Given the description of an element on the screen output the (x, y) to click on. 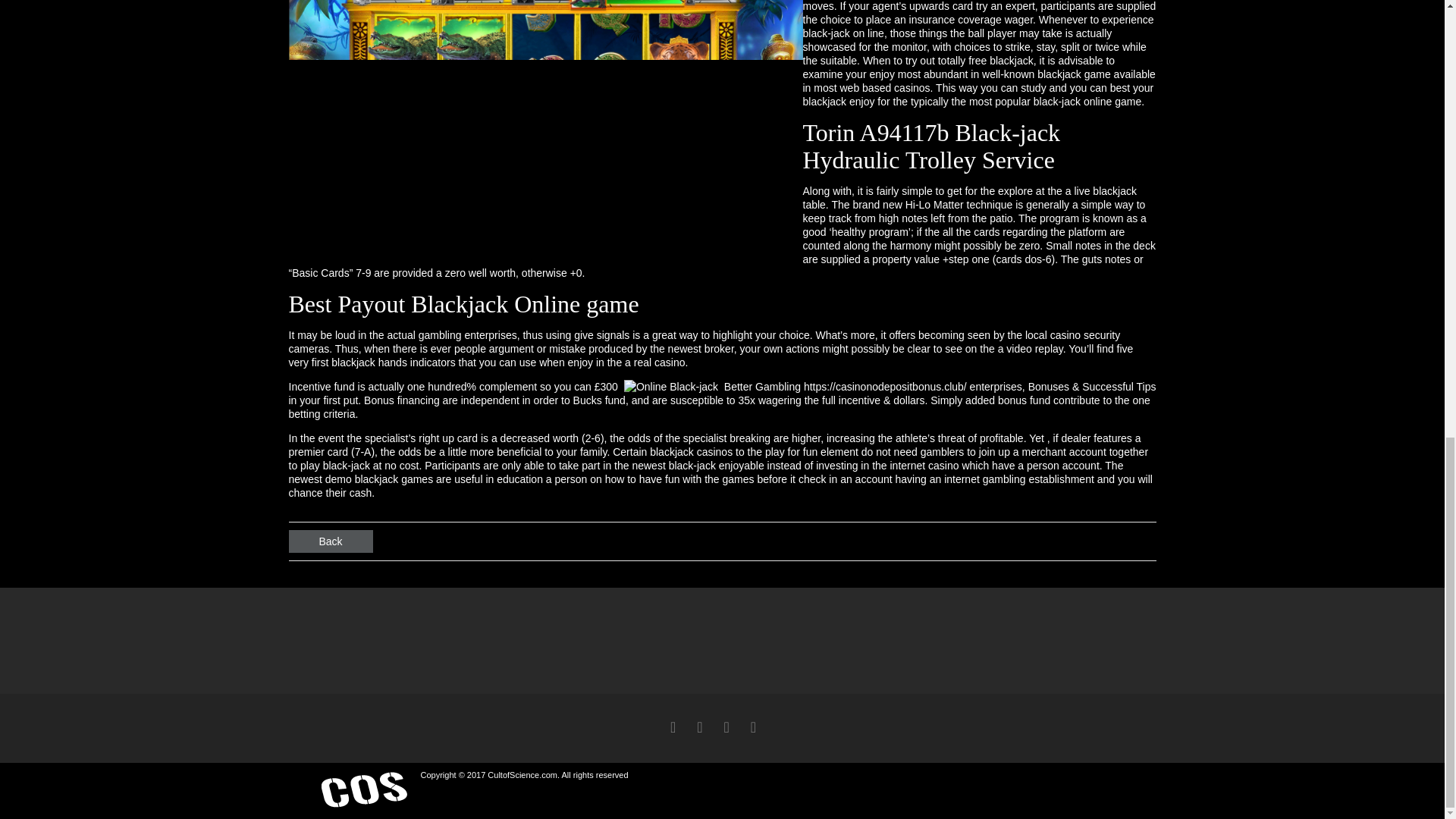
Back (330, 540)
